Given the description of an element on the screen output the (x, y) to click on. 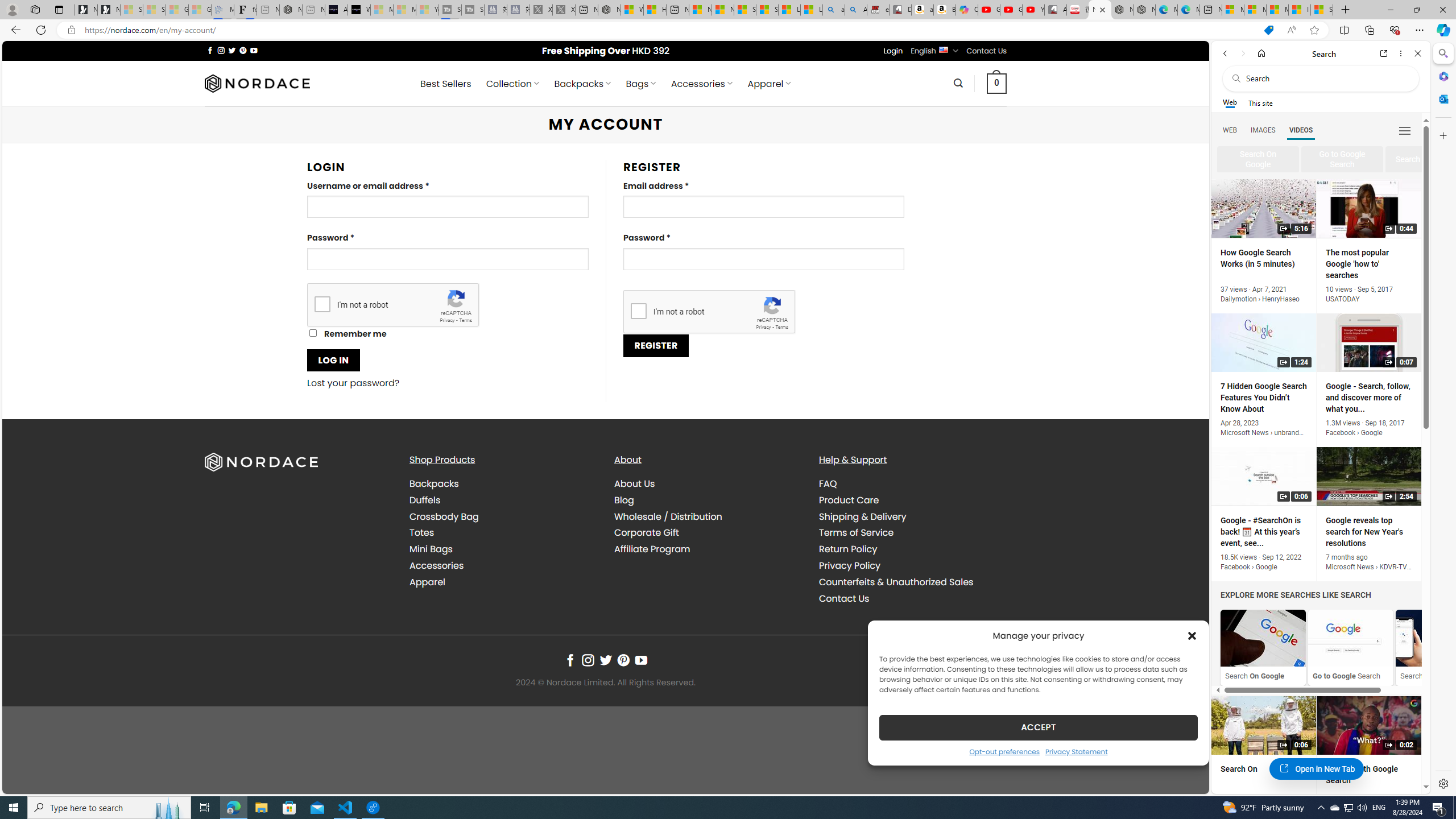
Microsoft Start Sports - Sleeping (381, 9)
Forward (1242, 53)
Contact Us (912, 598)
Wholesale / Distribution (668, 516)
FAQ (912, 483)
YouTube Kids - An App Created for Kids to Explore Content (1033, 9)
Go to top (1185, 777)
FAQ (827, 483)
Shipping & Delivery (912, 516)
Copilot (966, 9)
About Us (634, 483)
